Given the description of an element on the screen output the (x, y) to click on. 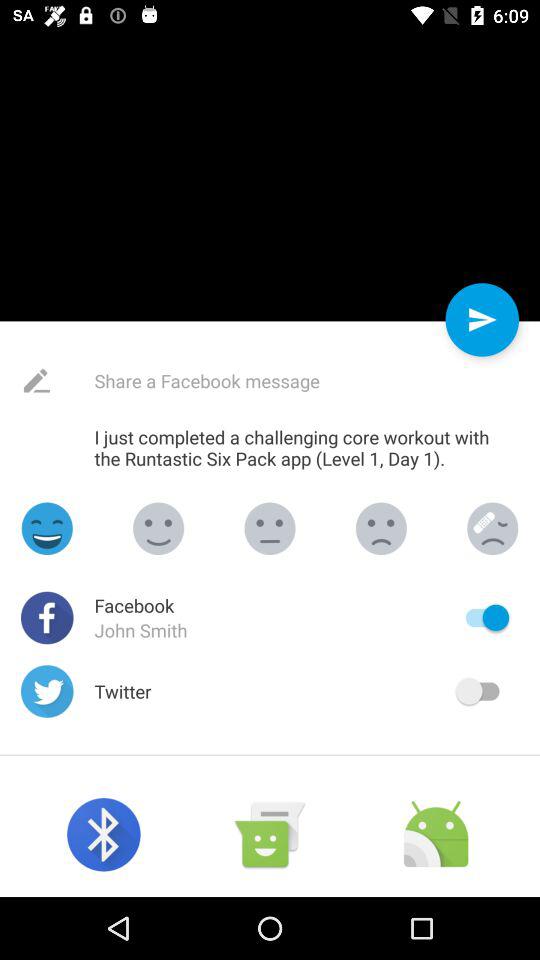
add happy emoji (47, 528)
